Given the description of an element on the screen output the (x, y) to click on. 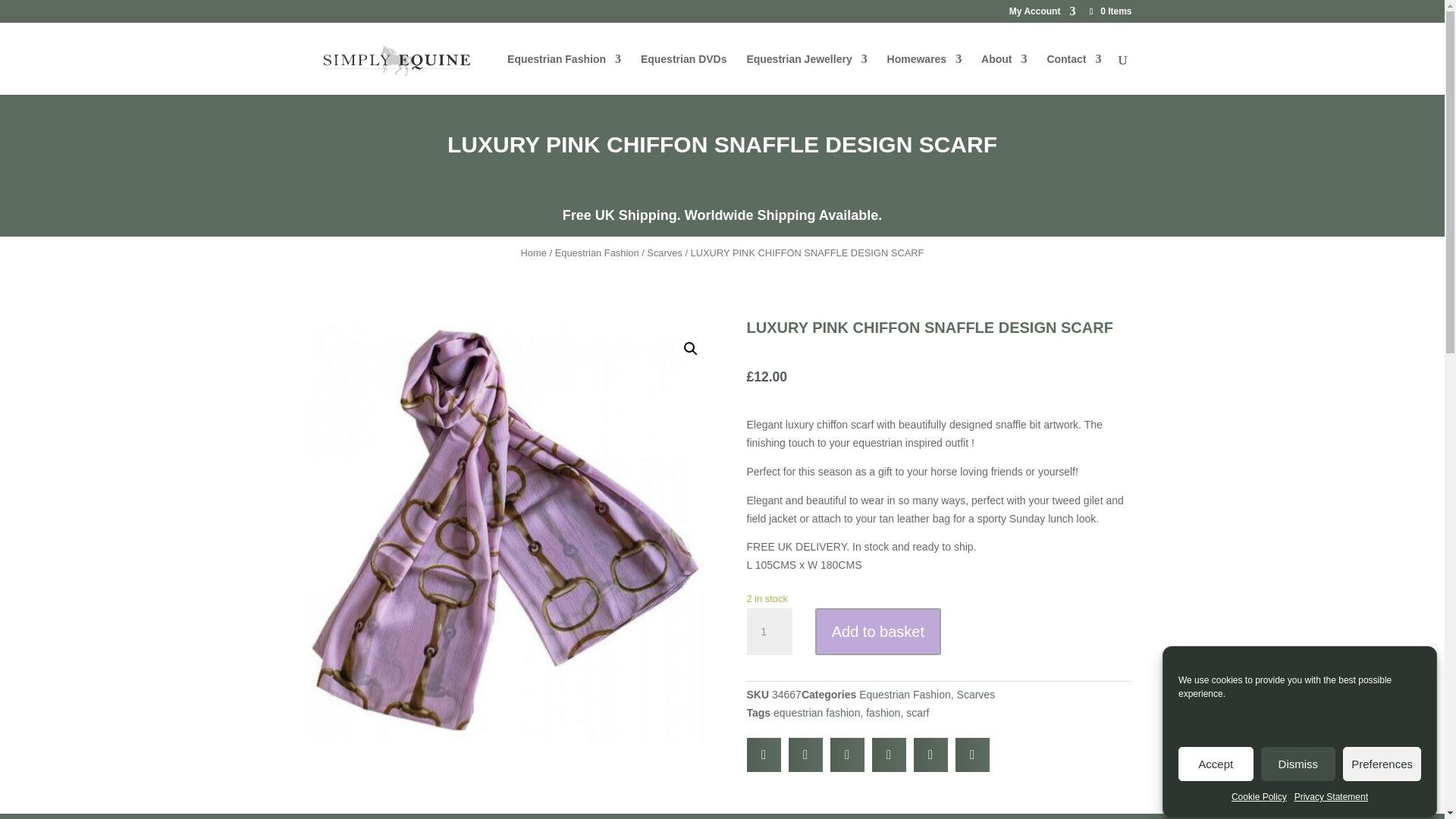
Equestrian Fashion (563, 74)
My Account (1042, 14)
0 Items (1108, 10)
Equestrian Jewellery (805, 74)
Equestrian DVDs (683, 74)
1 (768, 632)
